Given the description of an element on the screen output the (x, y) to click on. 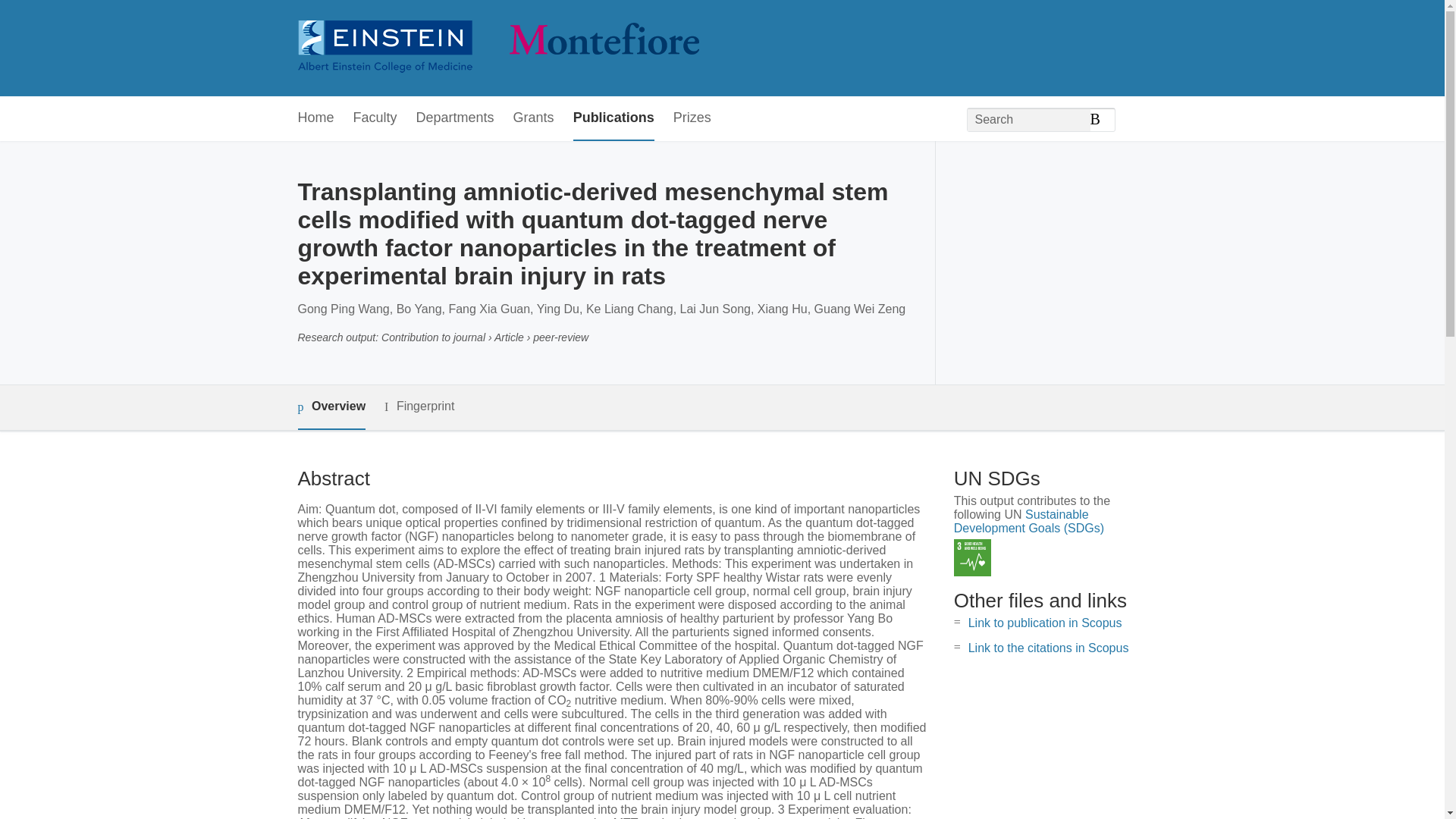
Link to the citations in Scopus (1048, 647)
Departments (455, 118)
Link to publication in Scopus (1045, 622)
Grants (533, 118)
Overview (331, 406)
Faculty (375, 118)
SDG 3 - Good Health and Well-being (972, 557)
Publications (613, 118)
Fingerprint (419, 406)
Albert Einstein College of Medicine Home (497, 48)
